Given the description of an element on the screen output the (x, y) to click on. 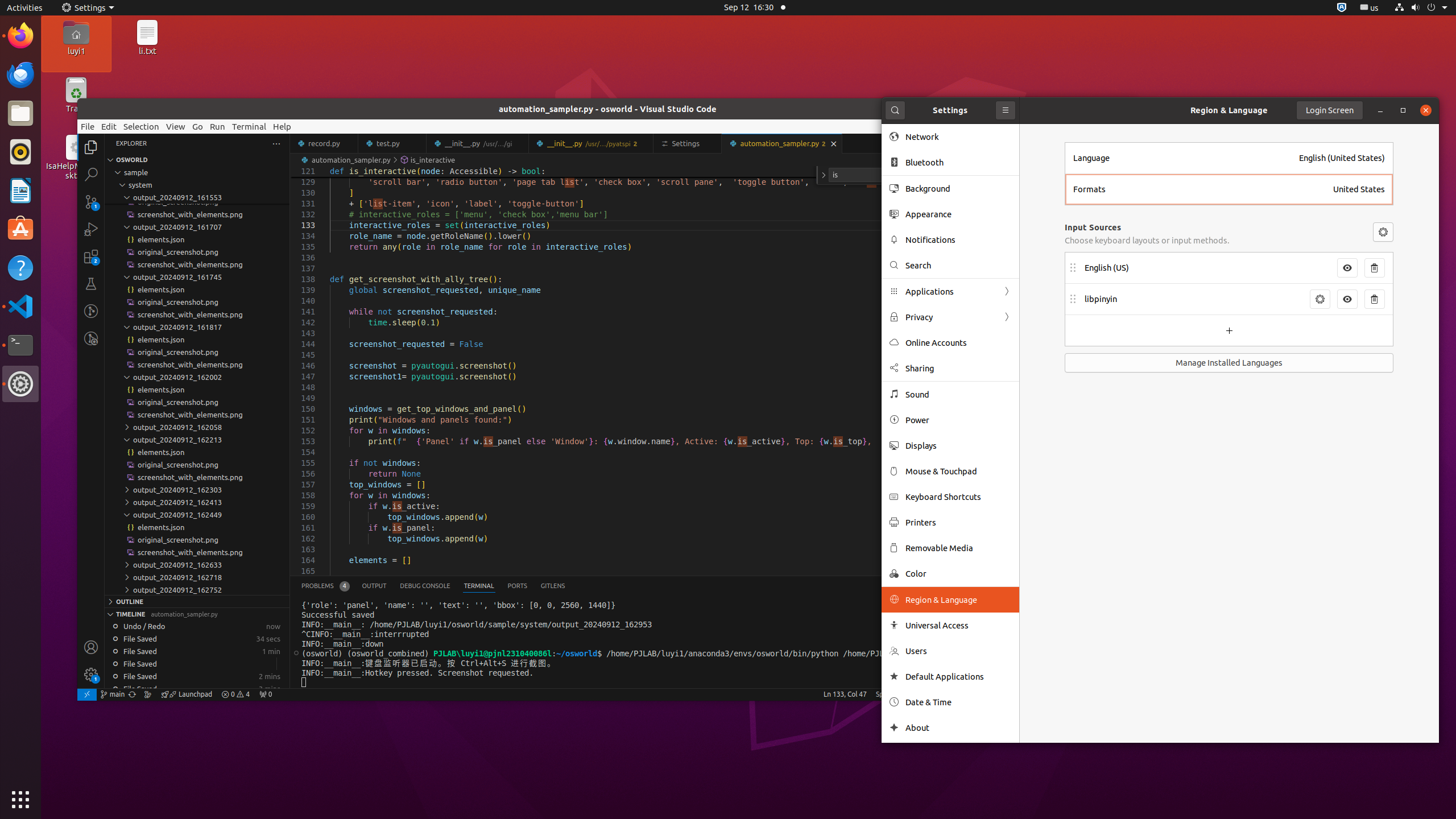
Sharing Element type: label (958, 368)
li.txt Element type: label (146, 50)
Minimize Element type: push-button (1380, 109)
Keyboard Shortcuts Element type: label (958, 496)
